Given the description of an element on the screen output the (x, y) to click on. 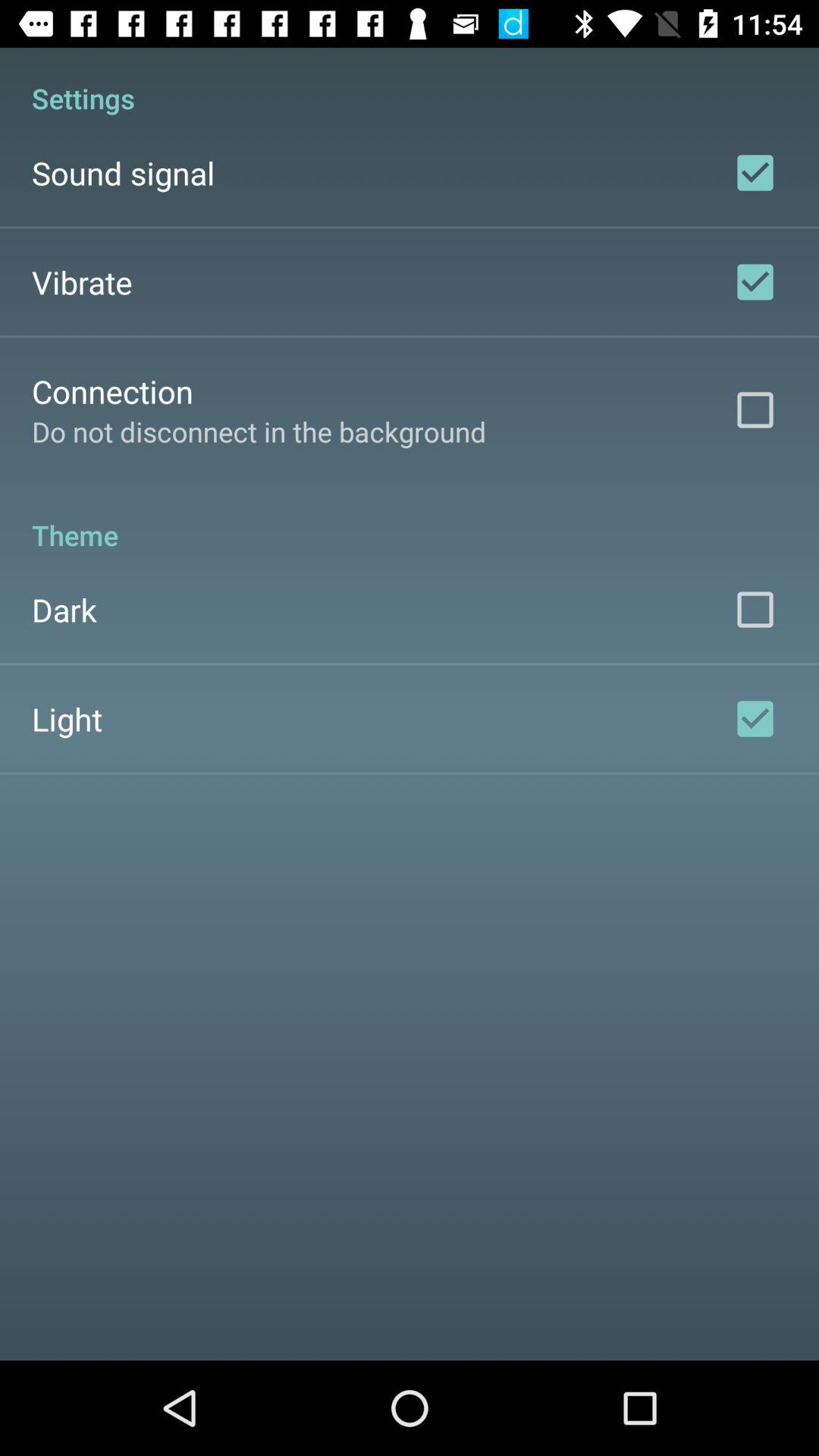
swipe until theme app (409, 518)
